Given the description of an element on the screen output the (x, y) to click on. 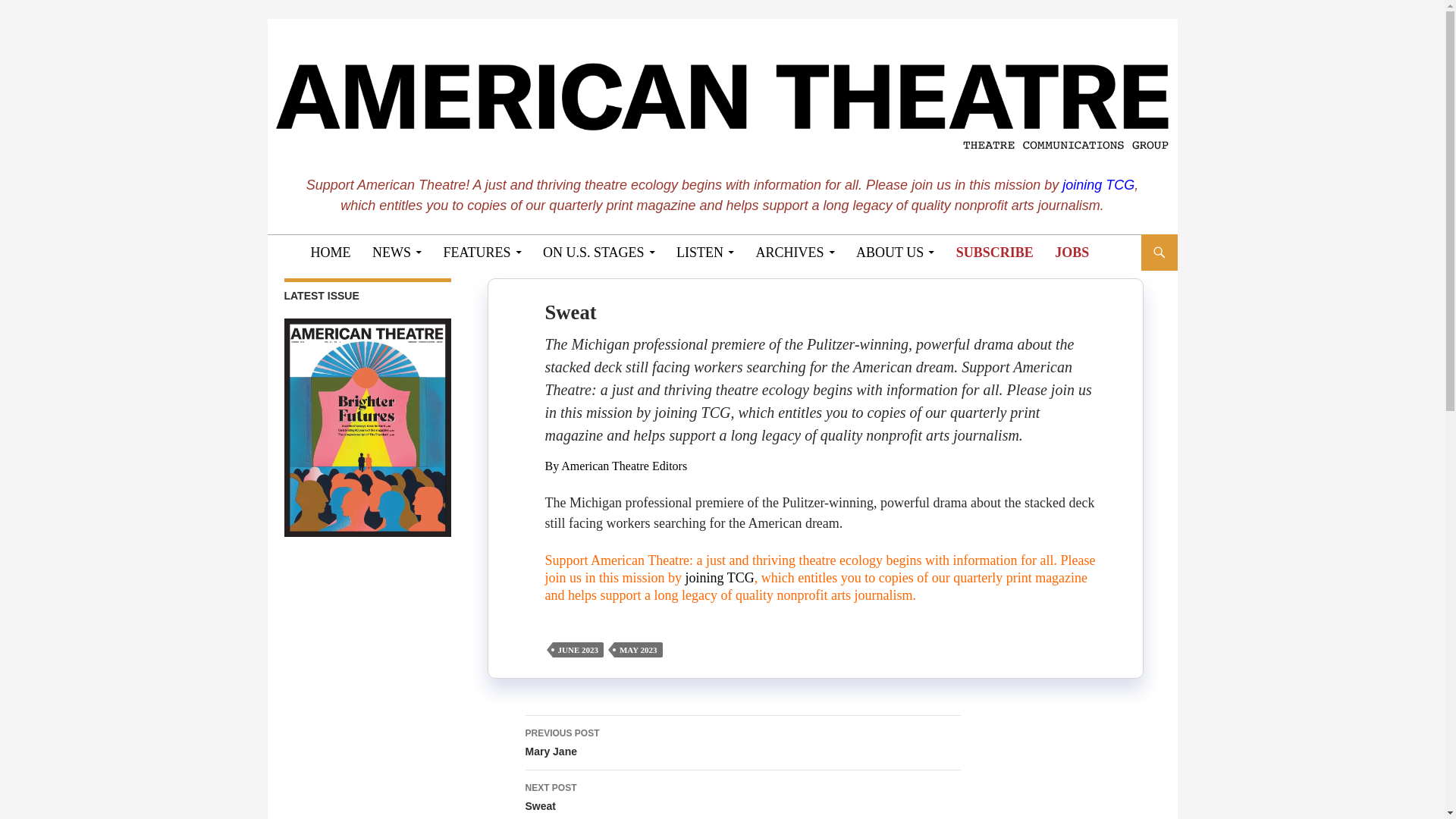
FEATURES (481, 252)
AMERICAN THEATRE (403, 251)
JOBS (1071, 252)
joining TCG (1098, 184)
NEWS (396, 252)
JUNE 2023 (576, 649)
ARCHIVES (795, 252)
ABOUT US (895, 252)
LISTEN (704, 252)
SUBSCRIBE (994, 252)
ON U.S. STAGES (598, 252)
HOME (330, 252)
